Given the description of an element on the screen output the (x, y) to click on. 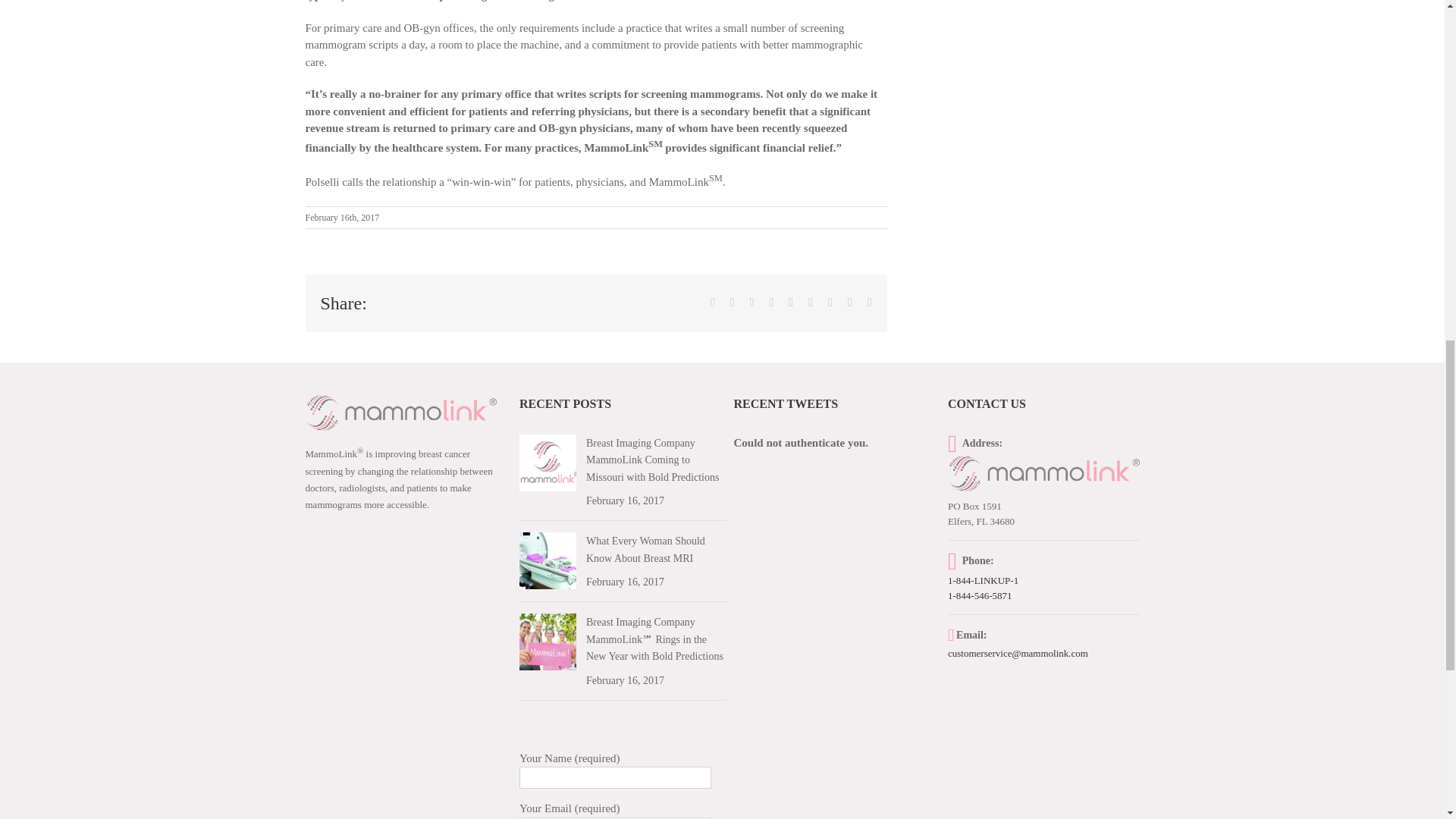
What Every Woman Should Know About Breast MRI (645, 549)
